Given the description of an element on the screen output the (x, y) to click on. 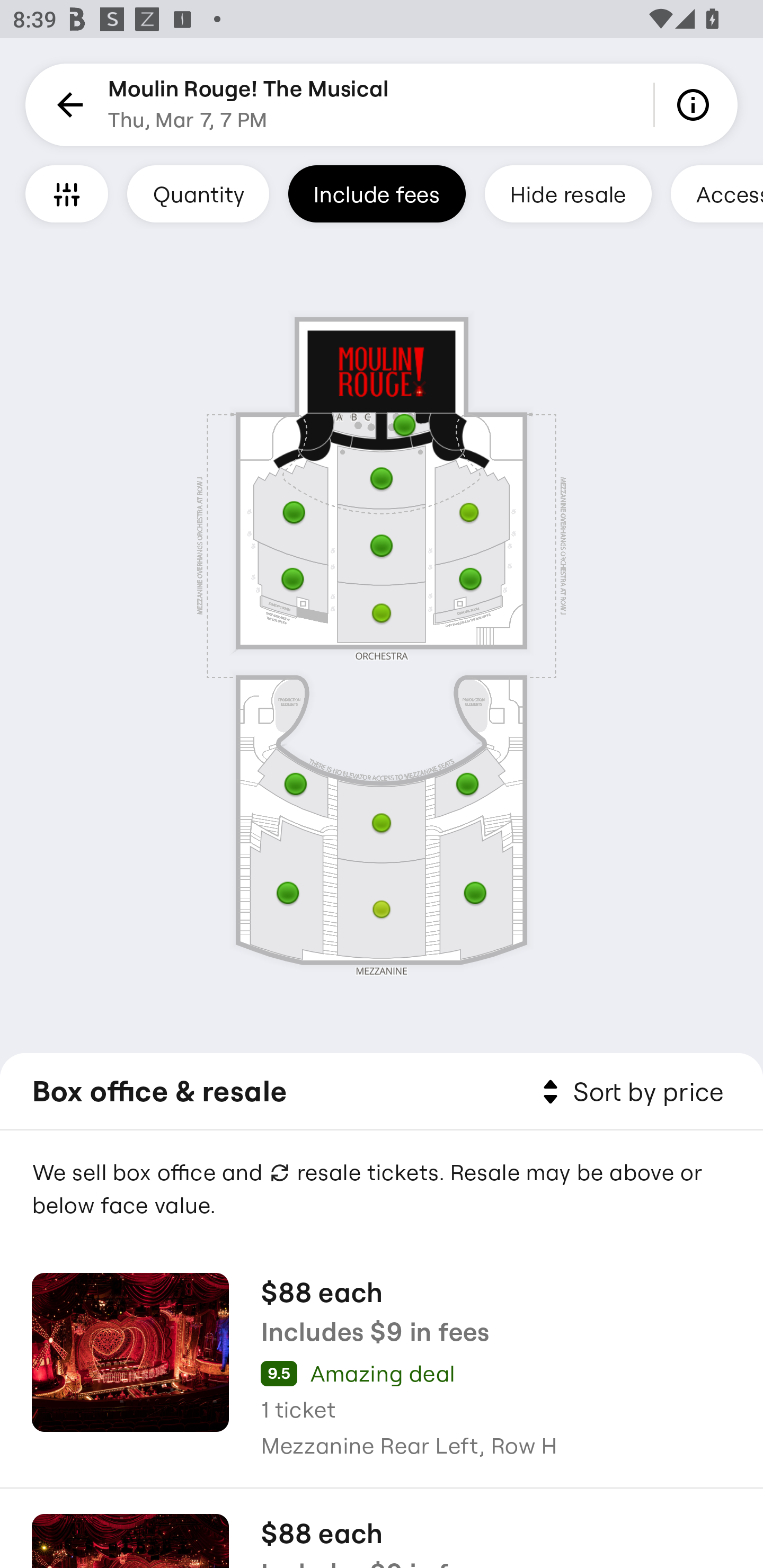
Back (66, 104)
Moulin Rouge! The Musical Thu, Mar 7, 7 PM (248, 104)
Info (695, 104)
Filters and Accessible Seating (66, 193)
Quantity (198, 193)
Include fees (376, 193)
Hide resale (567, 193)
Sort by price (629, 1091)
